Given the description of an element on the screen output the (x, y) to click on. 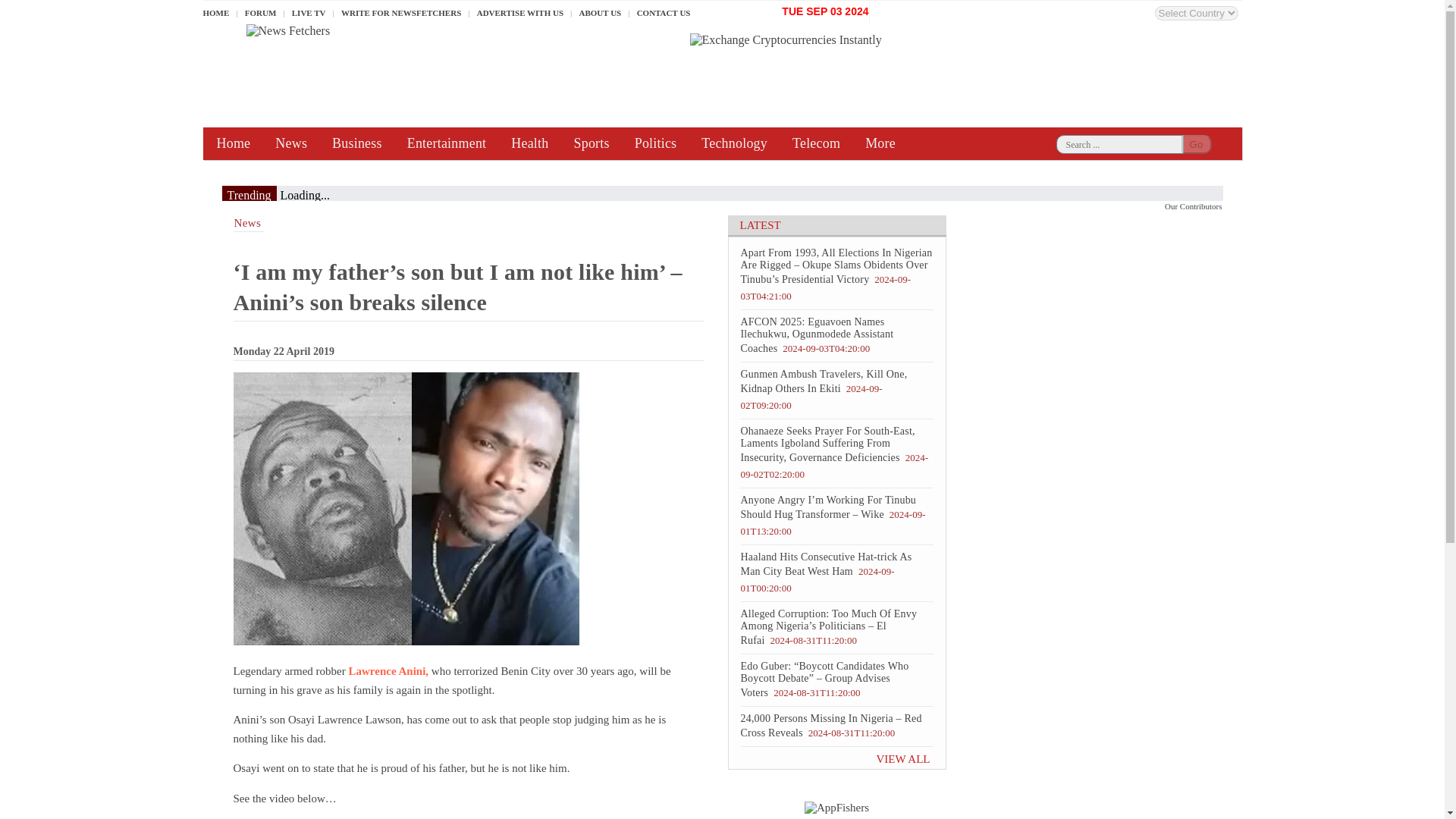
Business (356, 142)
HOME (219, 12)
News (290, 142)
Health (529, 142)
More (880, 142)
Sports (591, 142)
ADVERTISE WITH US (520, 12)
fb:like Facebook Social Plugin (946, 11)
Haaland Hits Consecutive Hat-trick As Man City Beat West Ham (825, 564)
Home (233, 142)
